Given the description of an element on the screen output the (x, y) to click on. 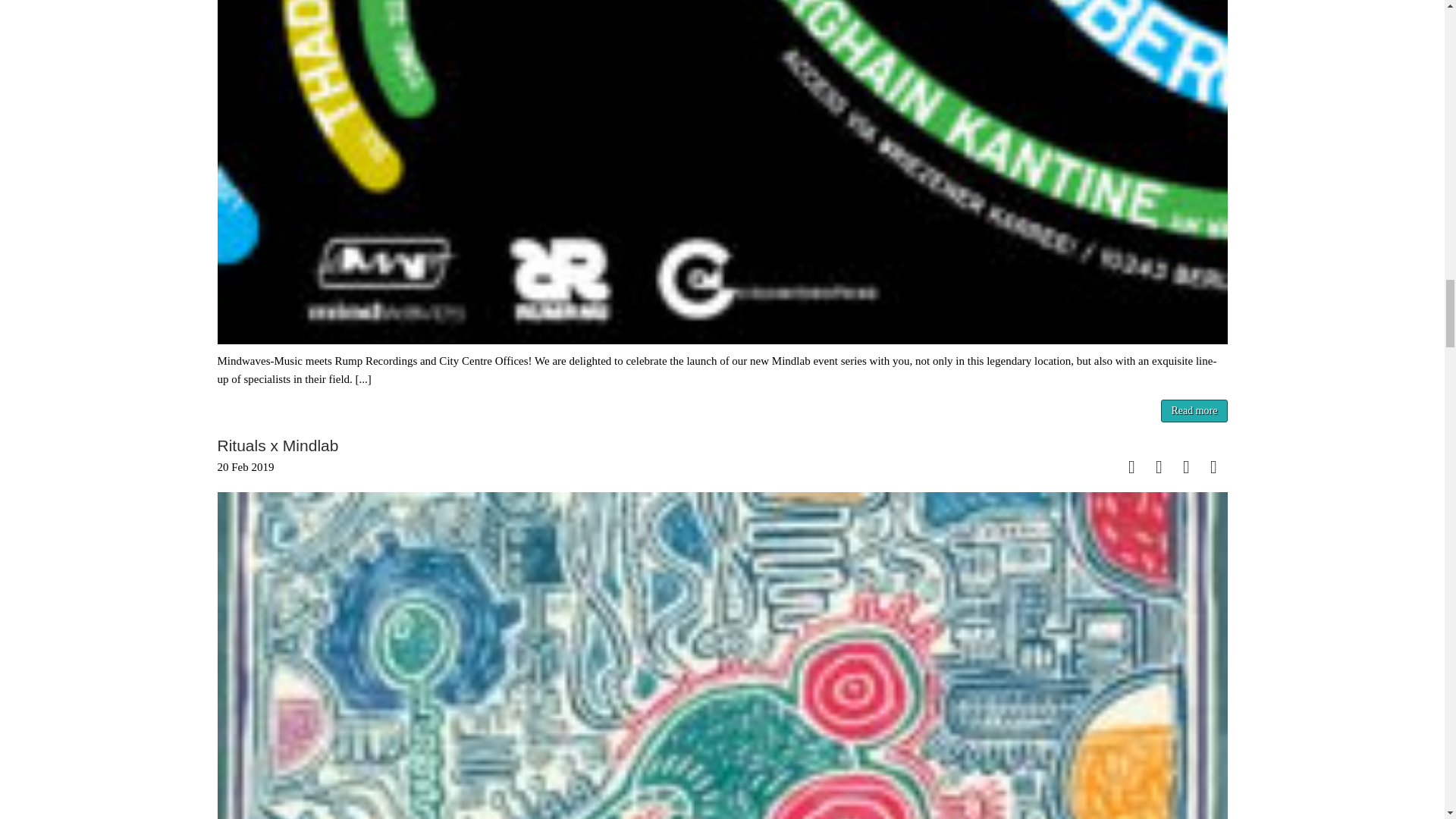
Rituals x Mindlab (276, 445)
Read more (1193, 410)
